Given the description of an element on the screen output the (x, y) to click on. 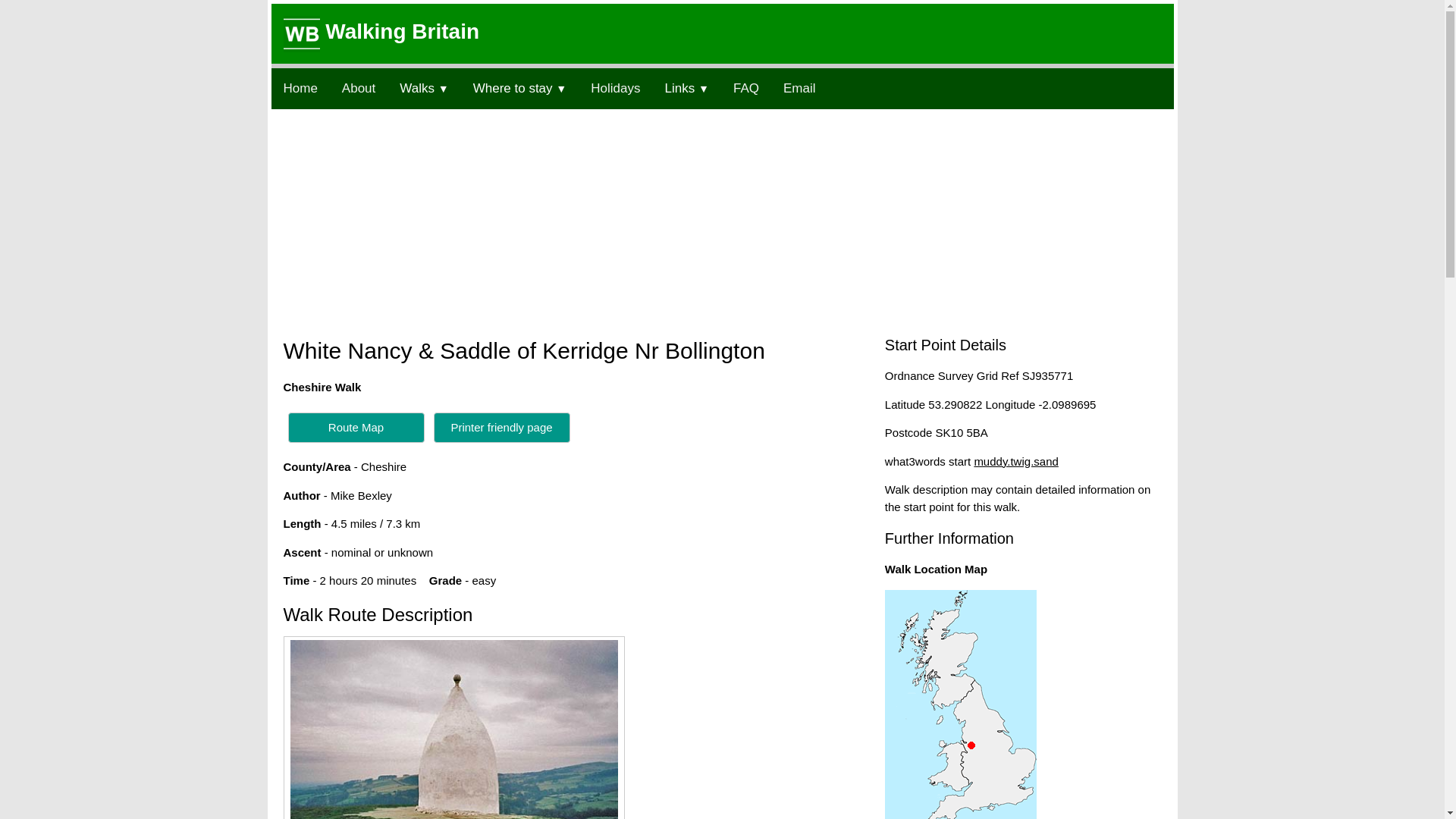
Printer friendly page (502, 426)
FAQ (745, 87)
Holidays (615, 87)
Route Map (356, 427)
Email (799, 87)
About (358, 87)
Route Map (356, 426)
Home (300, 87)
Printer friendly page (501, 427)
